Given the description of an element on the screen output the (x, y) to click on. 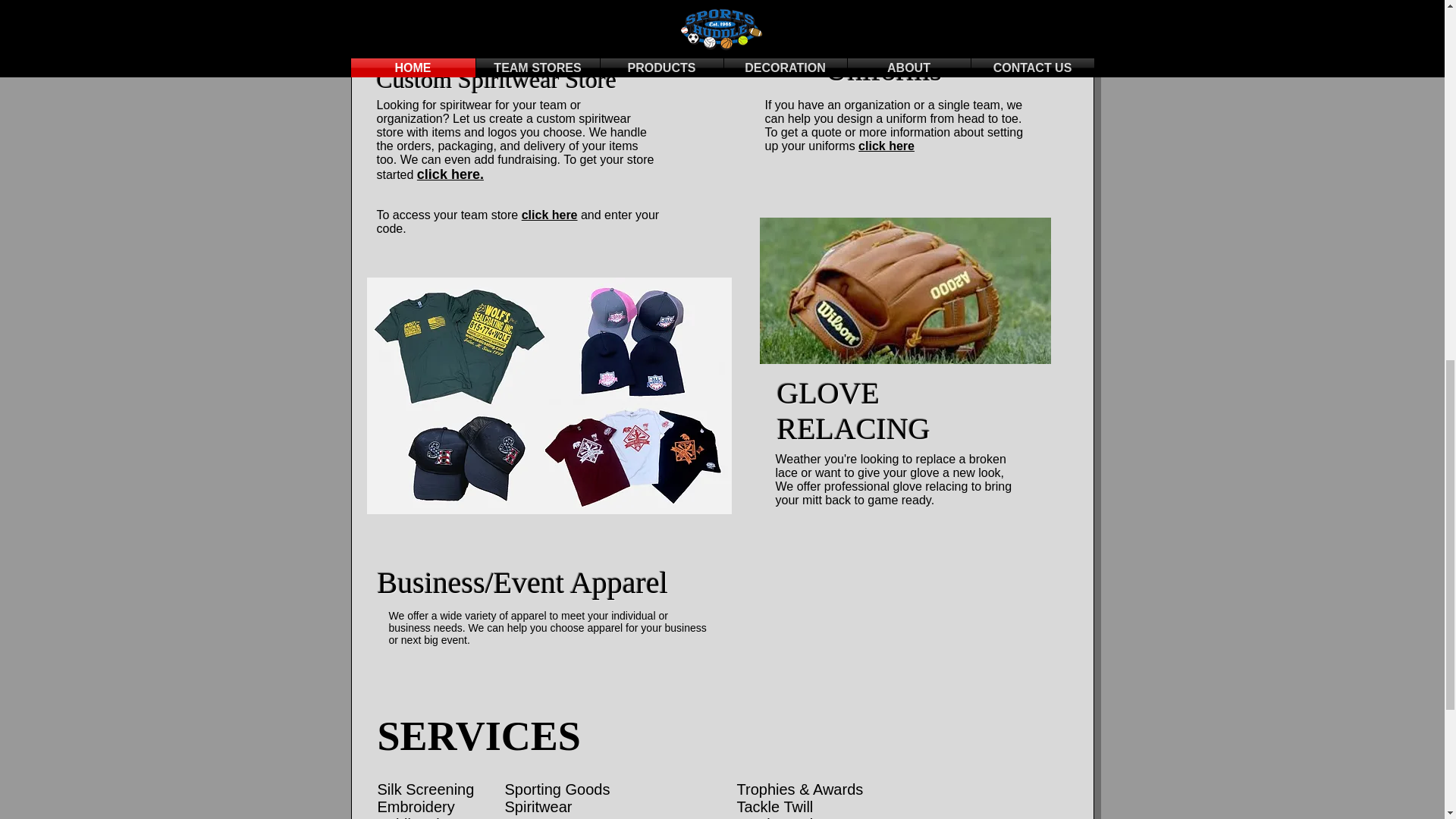
click here. (449, 174)
click here (549, 214)
click here (886, 145)
